Given the description of an element on the screen output the (x, y) to click on. 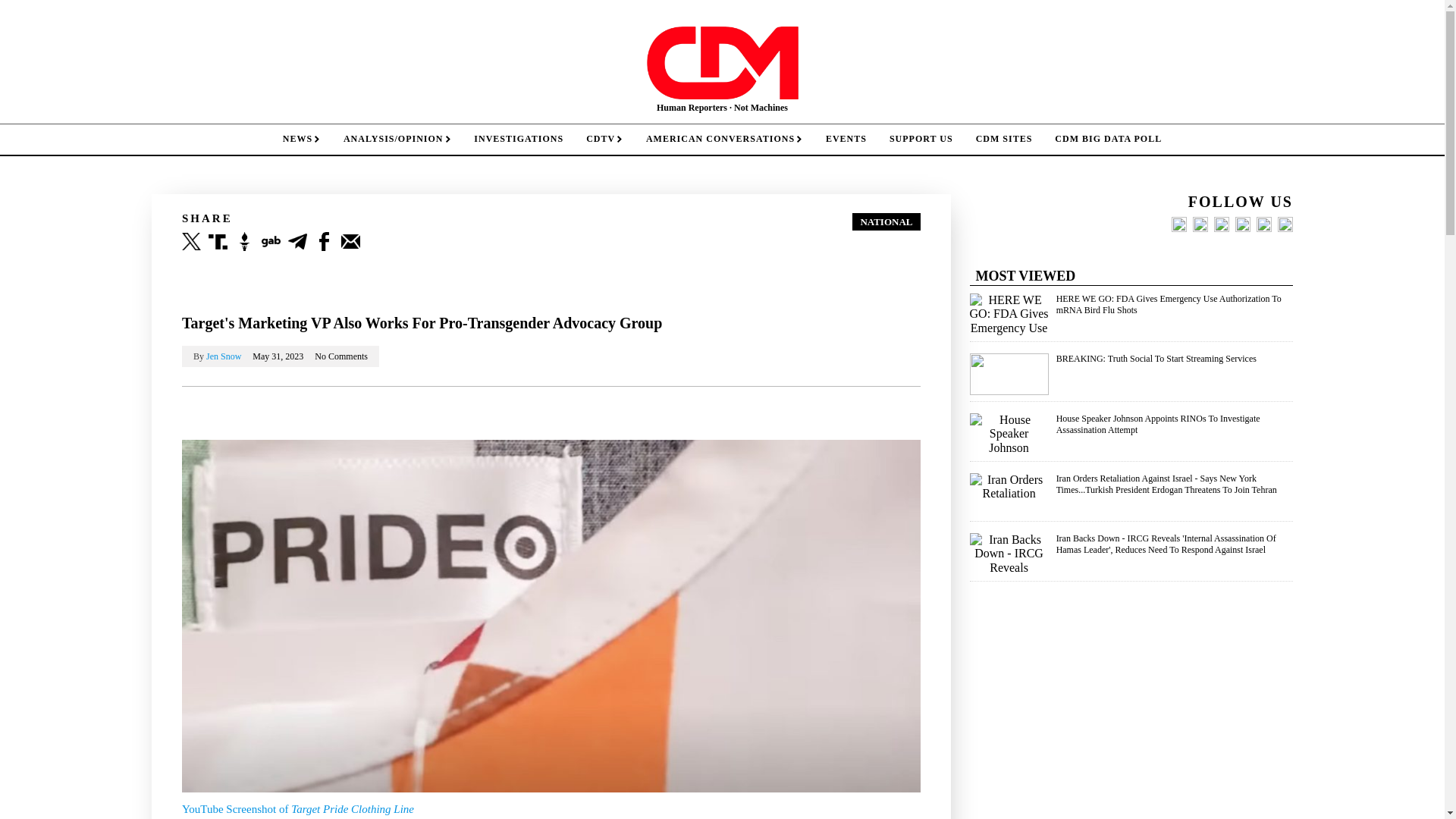
AMERICAN CONVERSATIONS (723, 139)
INVESTIGATIONS (519, 139)
NEWS (300, 139)
CDTV (604, 139)
